Given the description of an element on the screen output the (x, y) to click on. 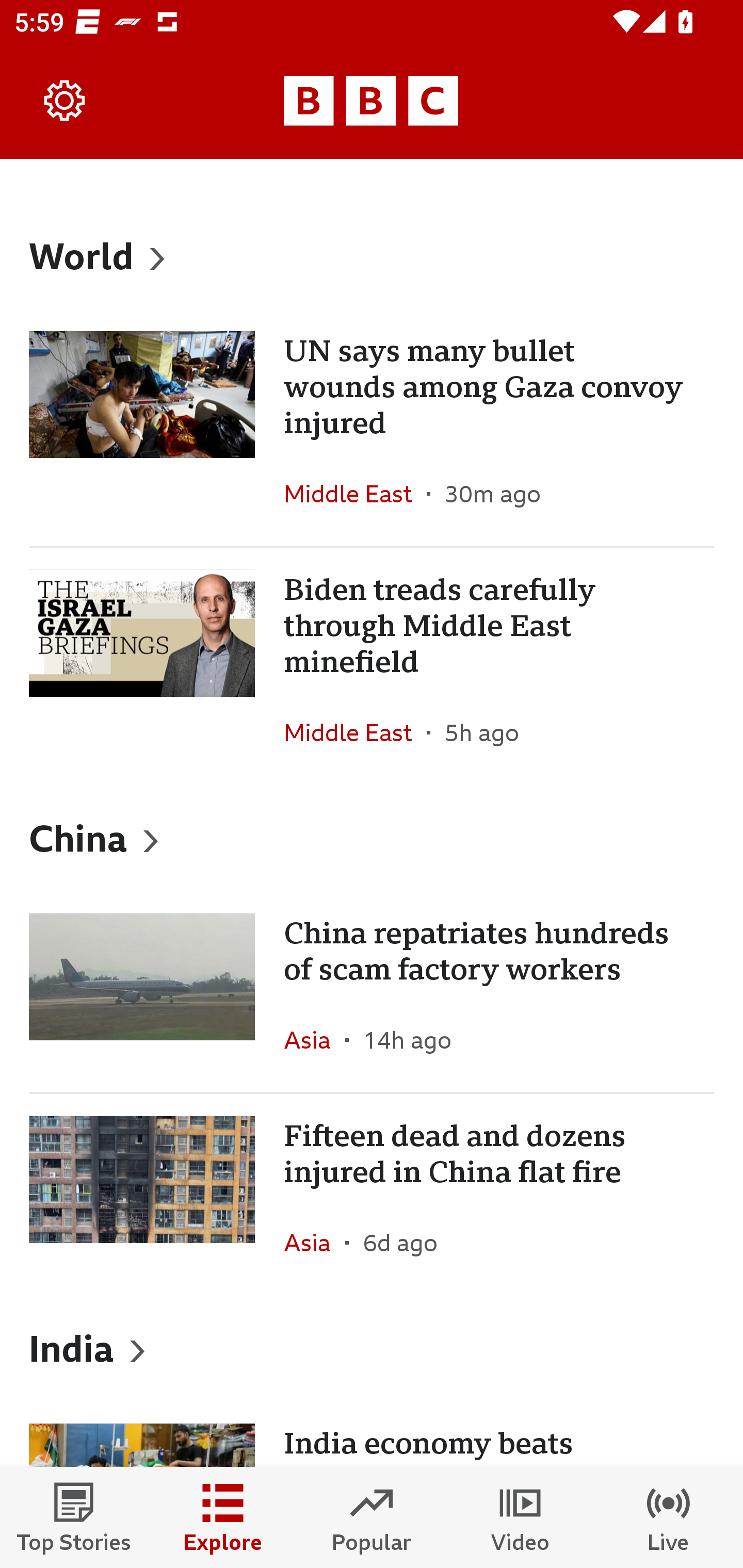
Settings (64, 100)
World, Heading World    (371, 255)
Middle East In the section Middle East (354, 493)
Middle East In the section Middle East (354, 732)
China, Heading China    (371, 837)
Asia In the section Asia (314, 1039)
Asia In the section Asia (314, 1242)
India, Heading India    (371, 1348)
Top Stories (74, 1517)
Popular (371, 1517)
Video (519, 1517)
Live (668, 1517)
